Given the description of an element on the screen output the (x, y) to click on. 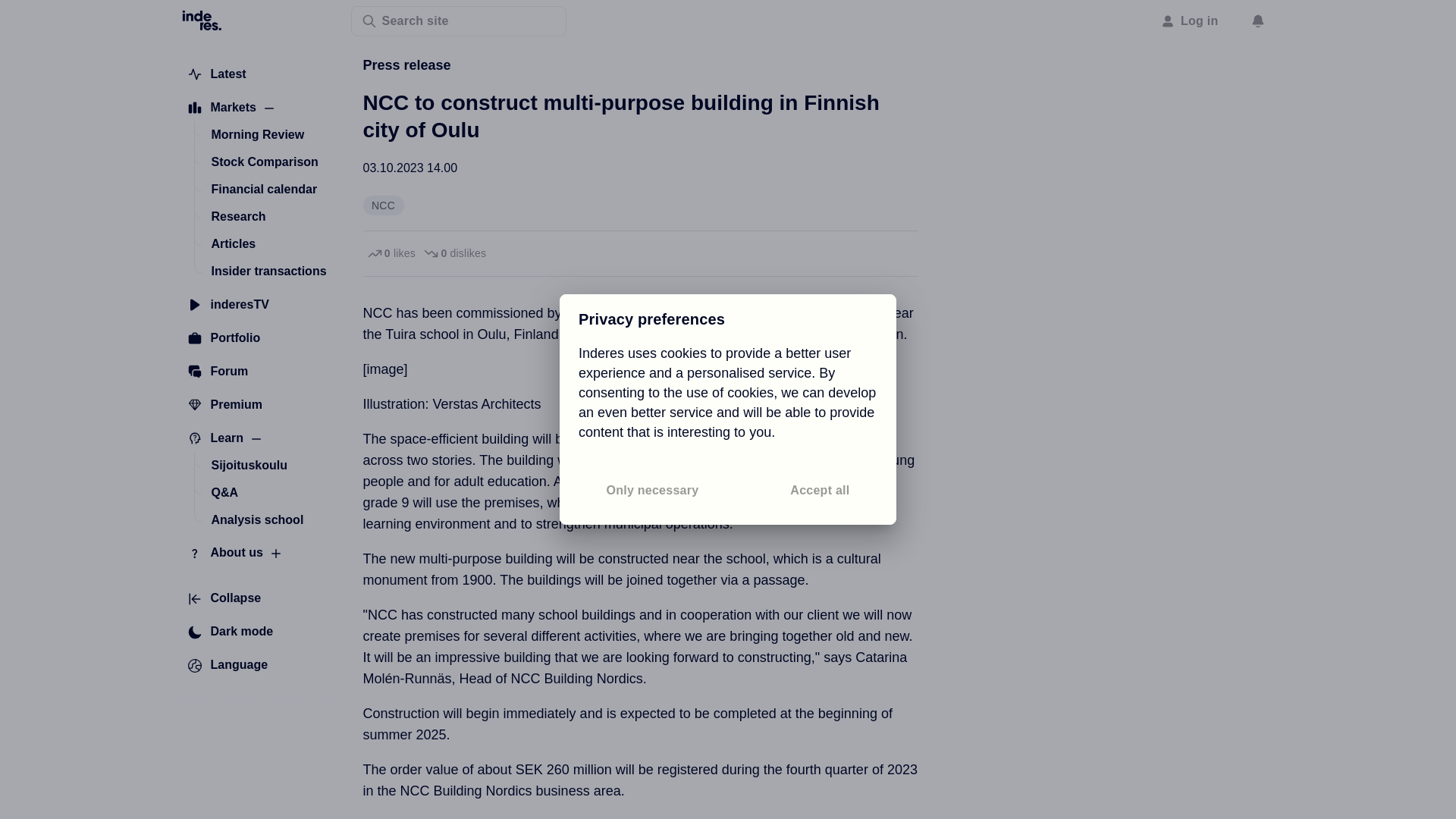
03.10.2023 14.00 (409, 168)
Log in (1190, 20)
Forum (217, 371)
Search site (458, 20)
Log in to dislike (454, 253)
Morning Review (257, 134)
Log in to like (390, 253)
About us (224, 553)
Language (227, 665)
To homepage (201, 19)
Only necessary (652, 490)
Dark mode (229, 632)
Portfolio (223, 338)
Financial calendar (264, 189)
Sijoituskoulu (248, 465)
